Given the description of an element on the screen output the (x, y) to click on. 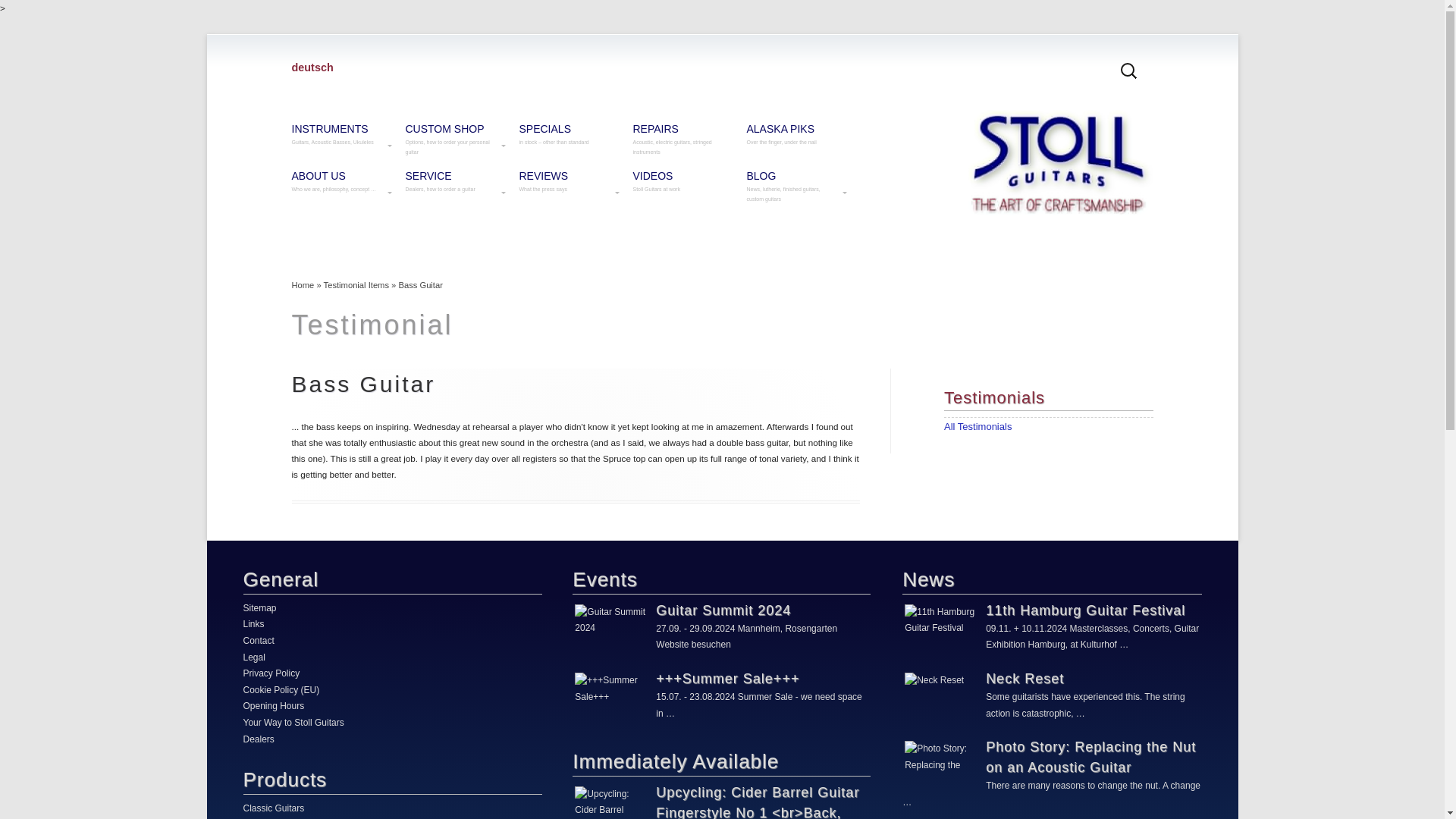
deutsch (312, 67)
Search (26, 12)
deutsch (312, 67)
